Given the description of an element on the screen output the (x, y) to click on. 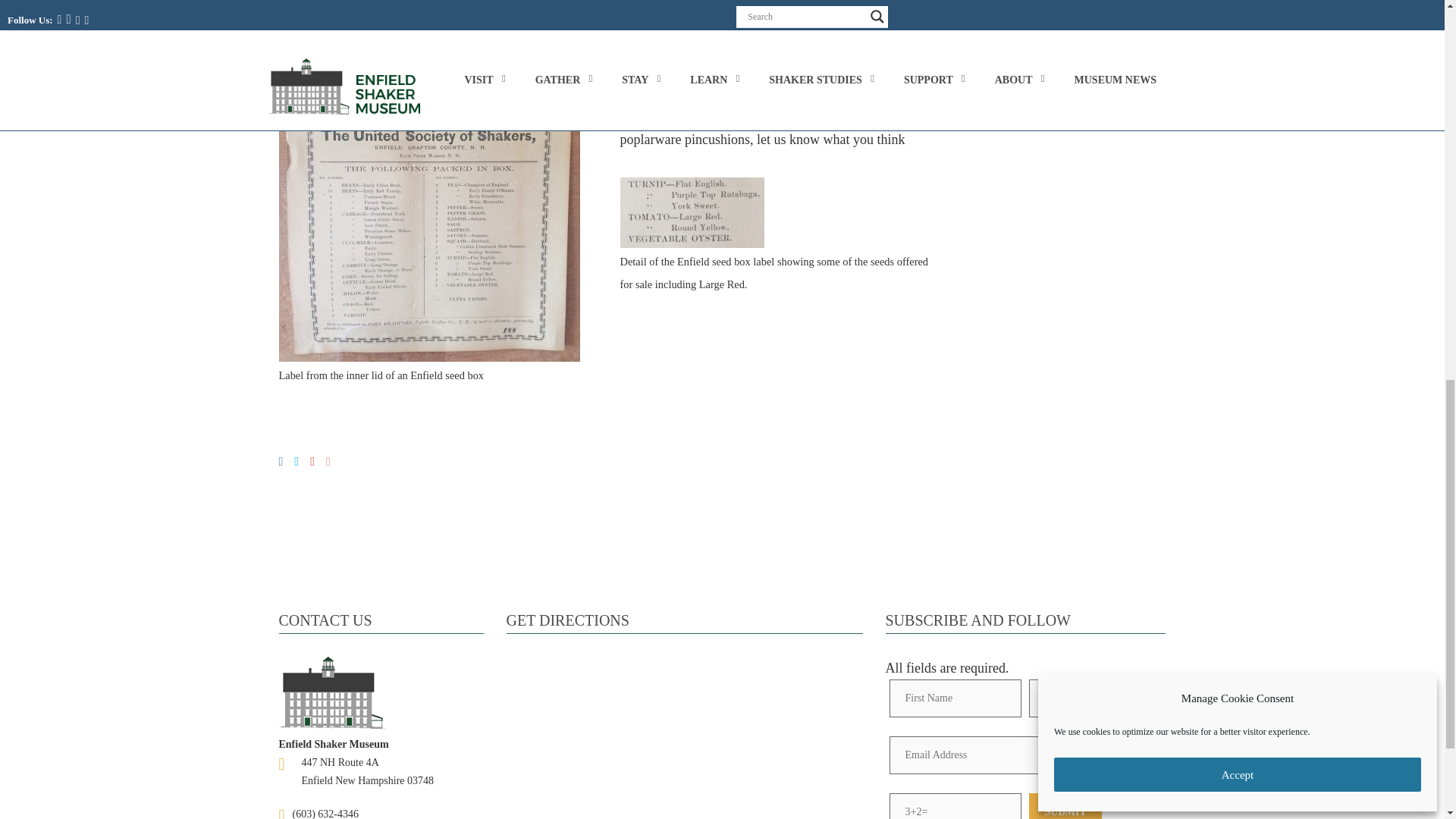
Enfield seed box label (429, 209)
Submit (1064, 806)
Large Red Shaker Tomatoes (428, 3)
Enfield seed box large red tomato (692, 212)
